Given the description of an element on the screen output the (x, y) to click on. 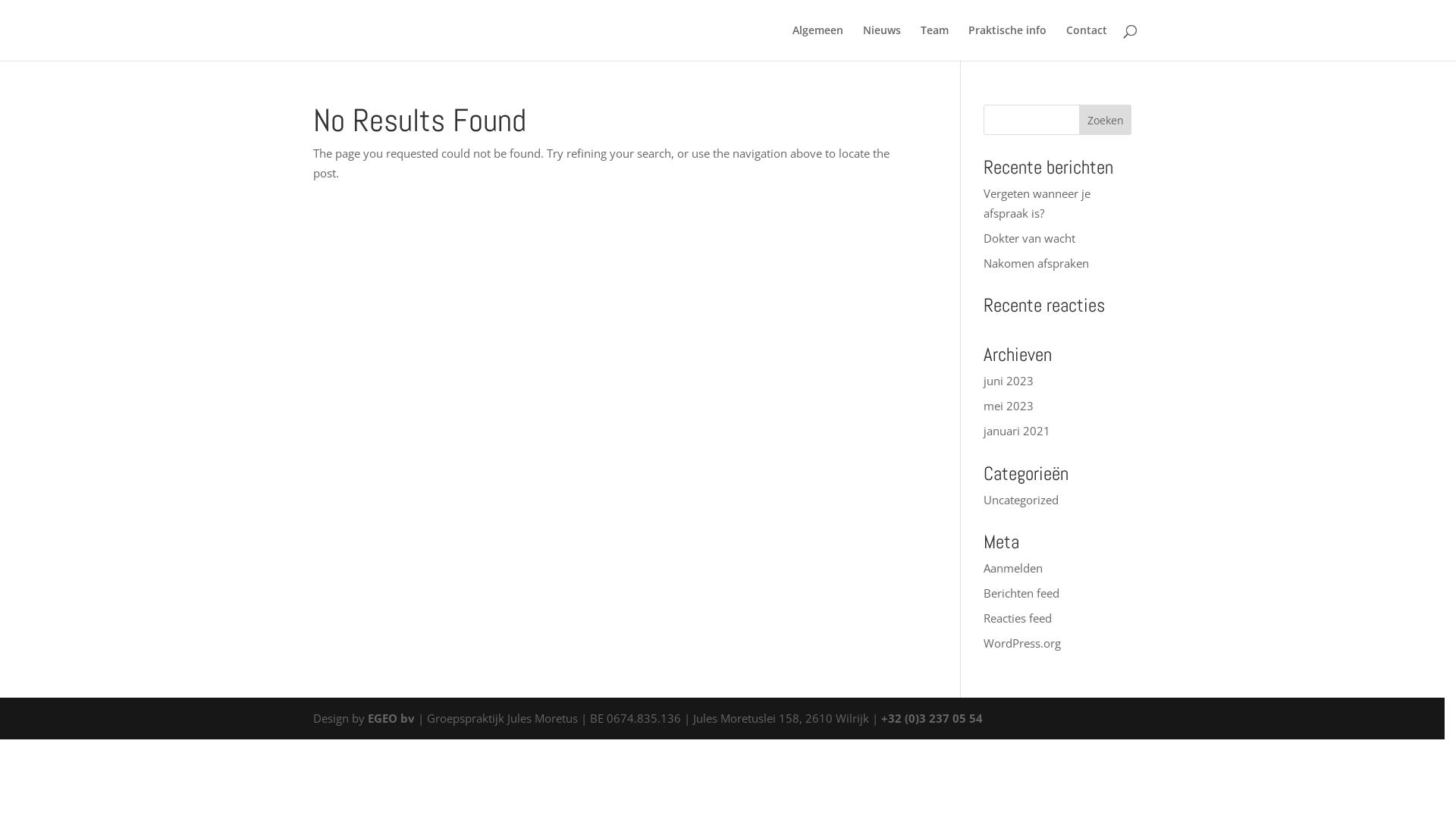
Nakomen afspraken Element type: text (1035, 261)
EGEO bv Element type: text (390, 716)
juni 2023 Element type: text (1008, 380)
januari 2021 Element type: text (1016, 430)
Team Element type: text (934, 42)
Nieuws Element type: text (881, 42)
Algemeen Element type: text (817, 42)
Uncategorized Element type: text (1020, 498)
WordPress.org Element type: text (1021, 642)
Aanmelden Element type: text (1012, 567)
Vergeten wanneer je afspraak is? Element type: text (1036, 202)
Reacties feed Element type: text (1017, 617)
Praktische info Element type: text (1007, 42)
Berichten feed Element type: text (1021, 592)
Contact Element type: text (1086, 42)
+32 (0)3 237 05 54 Element type: text (931, 716)
mei 2023 Element type: text (1008, 405)
Zoeken Element type: text (1105, 119)
Dokter van wacht Element type: text (1029, 237)
